Given the description of an element on the screen output the (x, y) to click on. 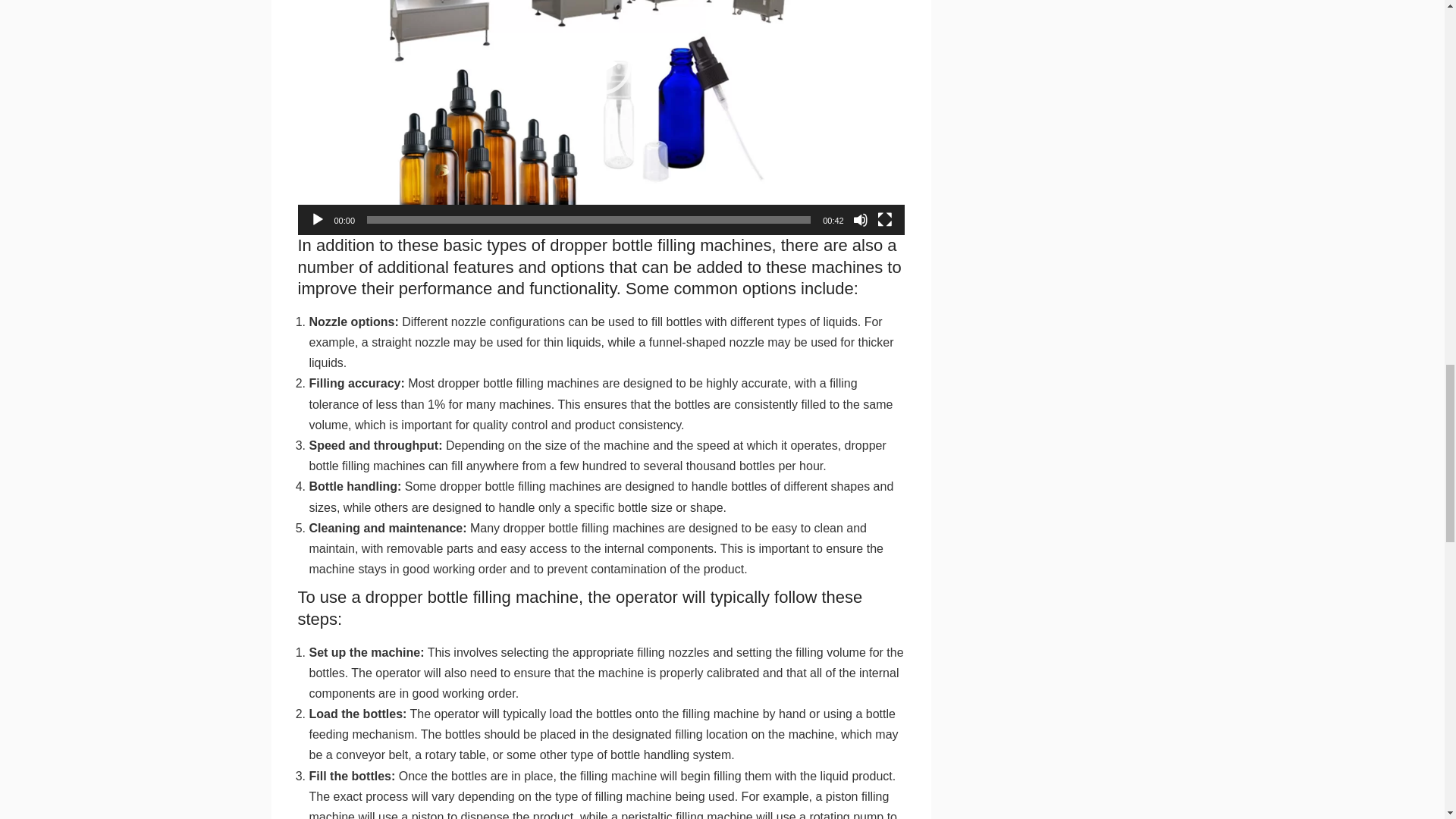
Mute (860, 219)
Play (316, 219)
Fullscreen (884, 219)
